Given the description of an element on the screen output the (x, y) to click on. 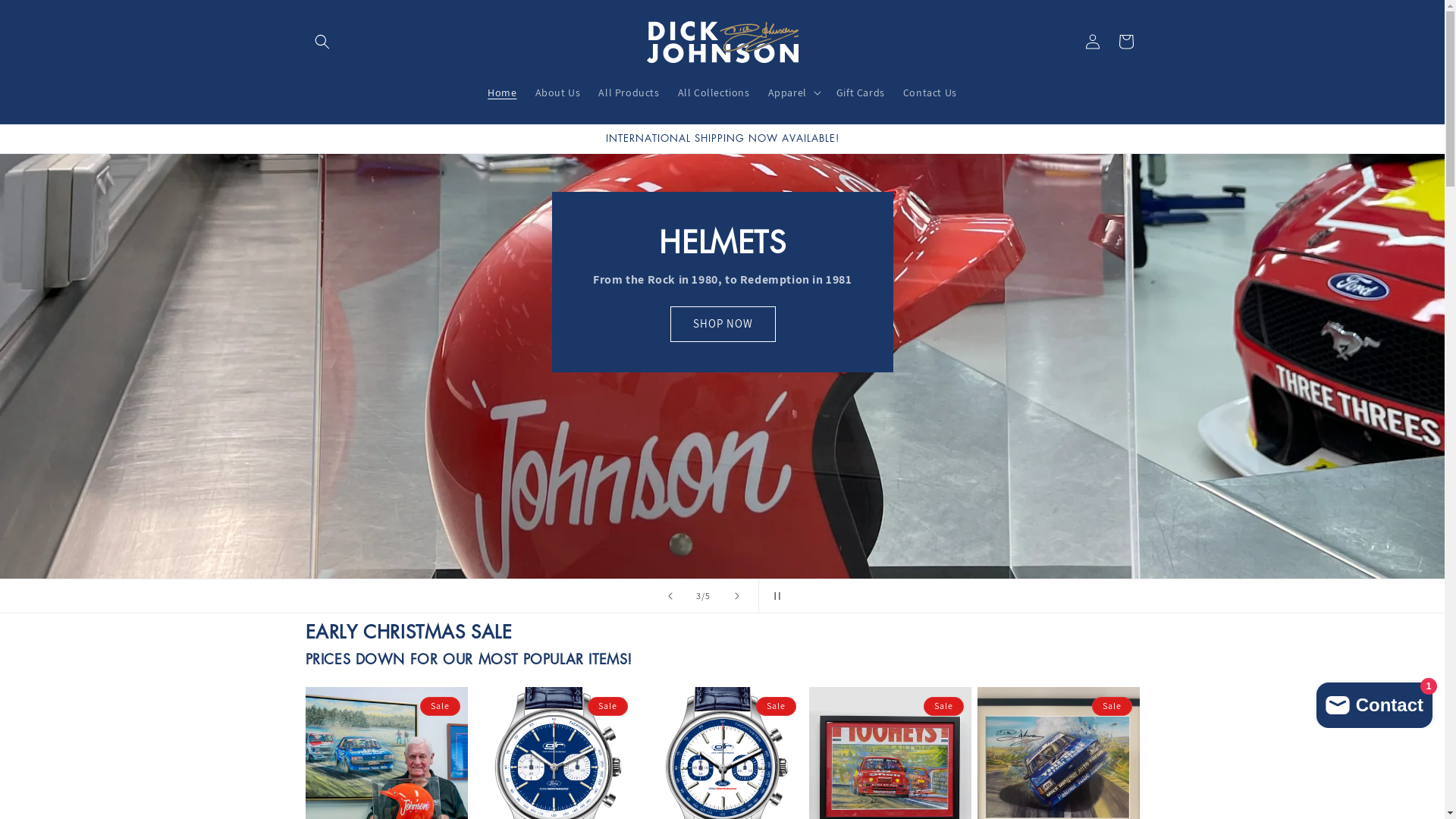
Gift Cards Element type: text (860, 92)
Log in Element type: text (1091, 41)
SHOP NOW Element type: text (722, 324)
Shopify online store chat Element type: hover (1374, 702)
All Products Element type: text (628, 92)
Home Element type: text (501, 92)
All Collections Element type: text (713, 92)
About Us Element type: text (557, 92)
Contact Us Element type: text (930, 92)
Cart Element type: text (1125, 41)
